Given the description of an element on the screen output the (x, y) to click on. 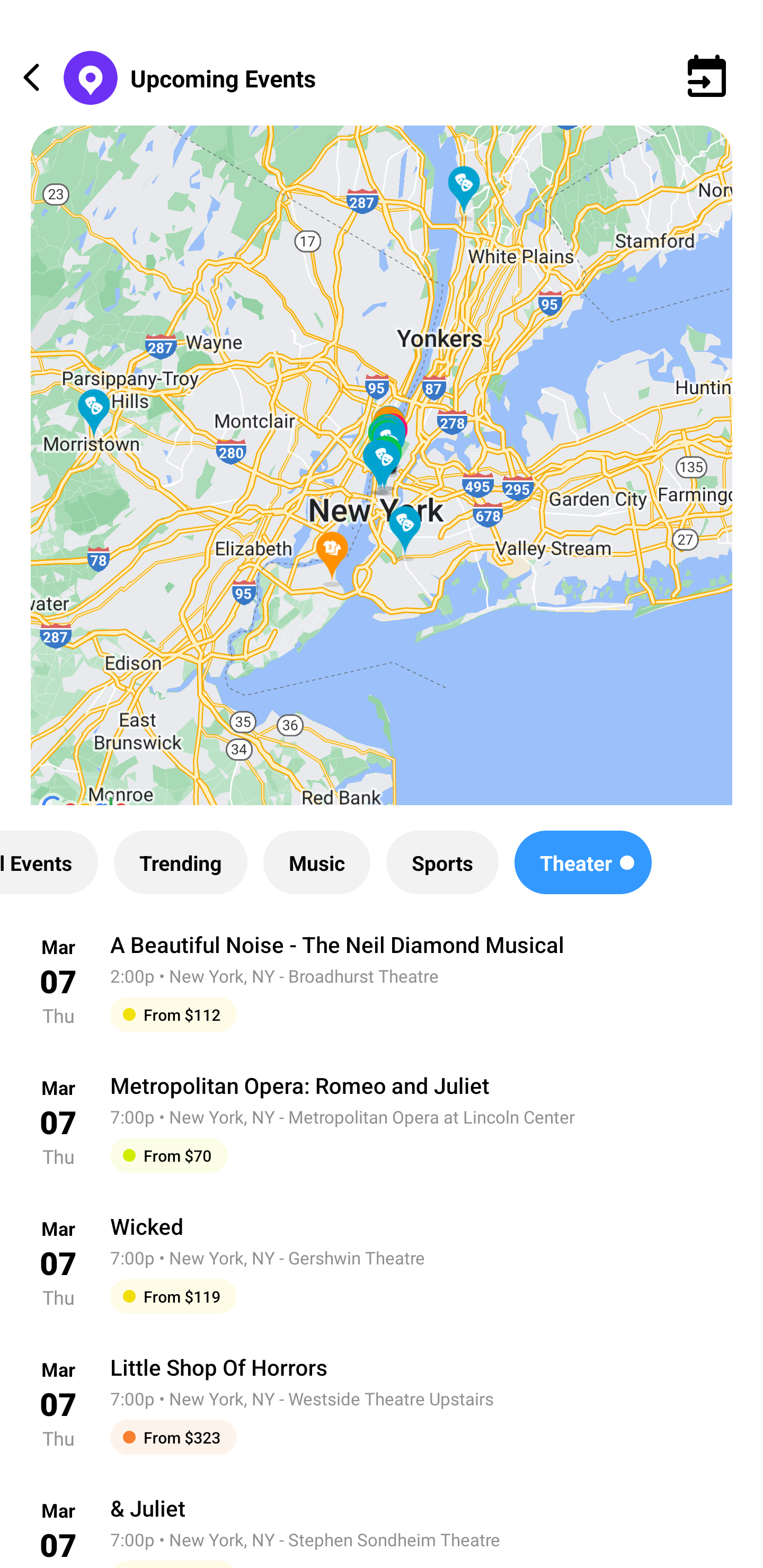
Trending (180, 862)
Music (316, 862)
Sports (442, 862)
Theater (582, 862)
